Given the description of an element on the screen output the (x, y) to click on. 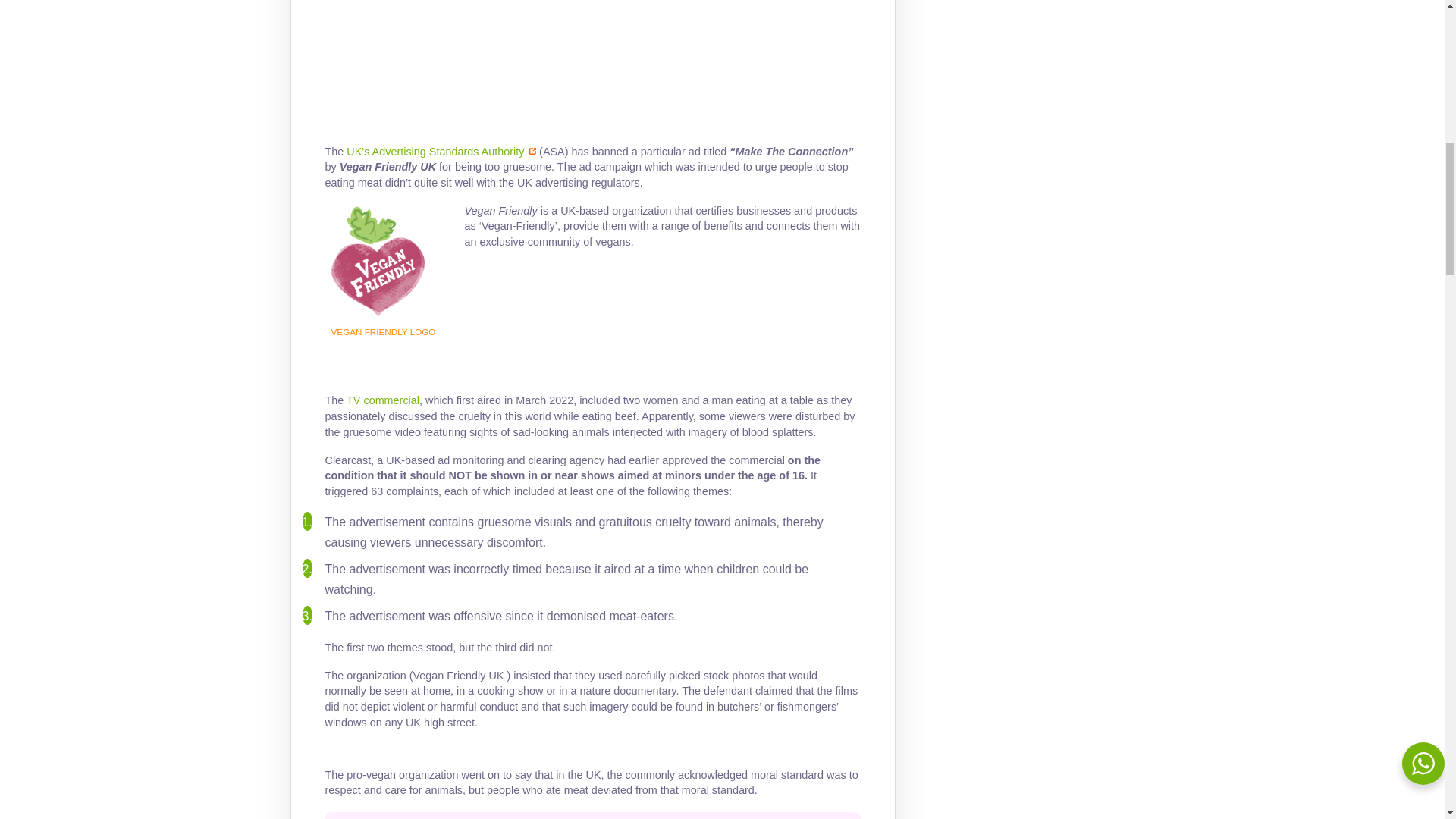
Vegan friendly logo (378, 262)
TV commercial (425, 535)
